Given the description of an element on the screen output the (x, y) to click on. 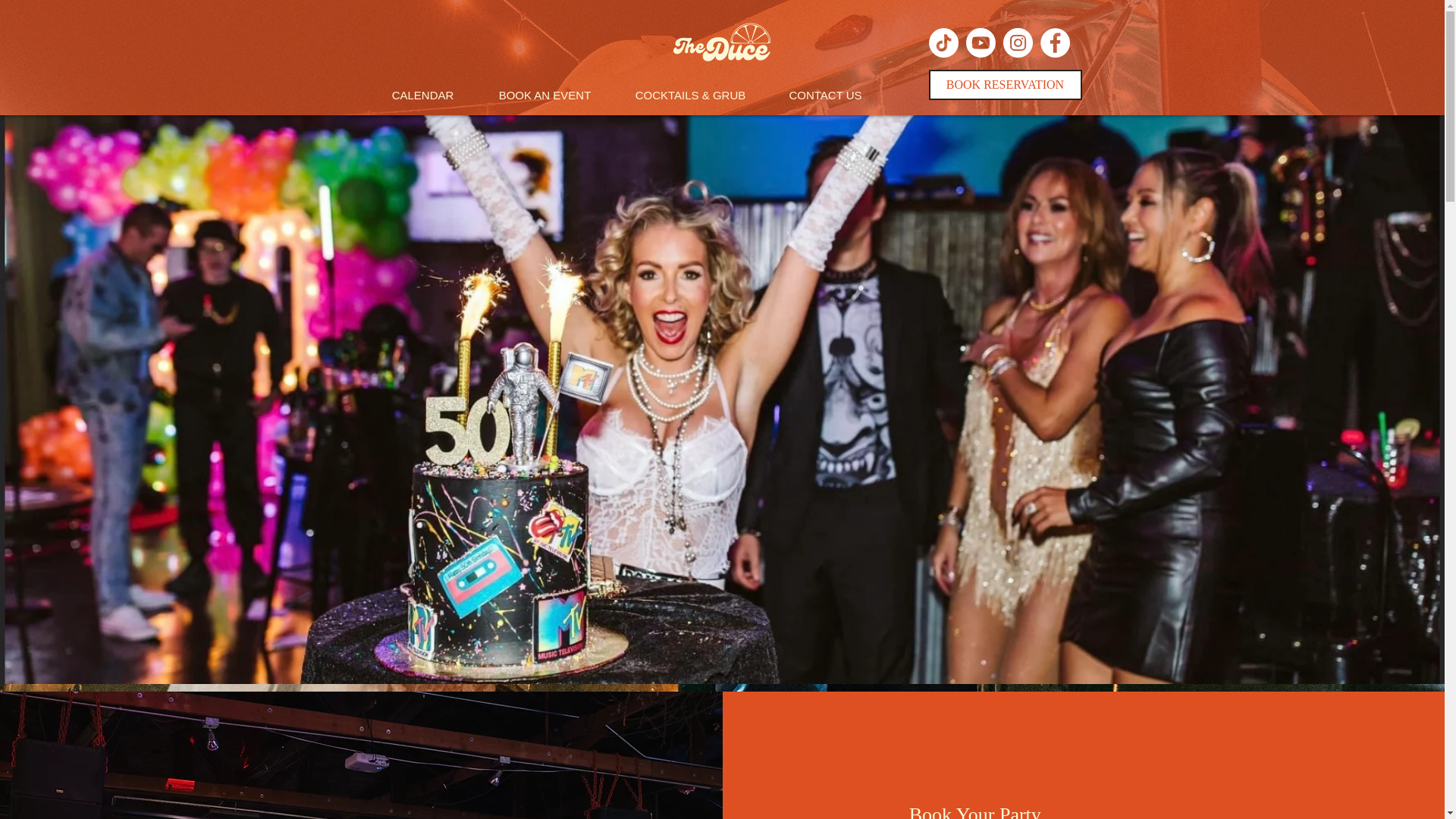
CALENDAR (422, 95)
CONTACT US (825, 95)
BOOK RESERVATION (1004, 84)
